Given the description of an element on the screen output the (x, y) to click on. 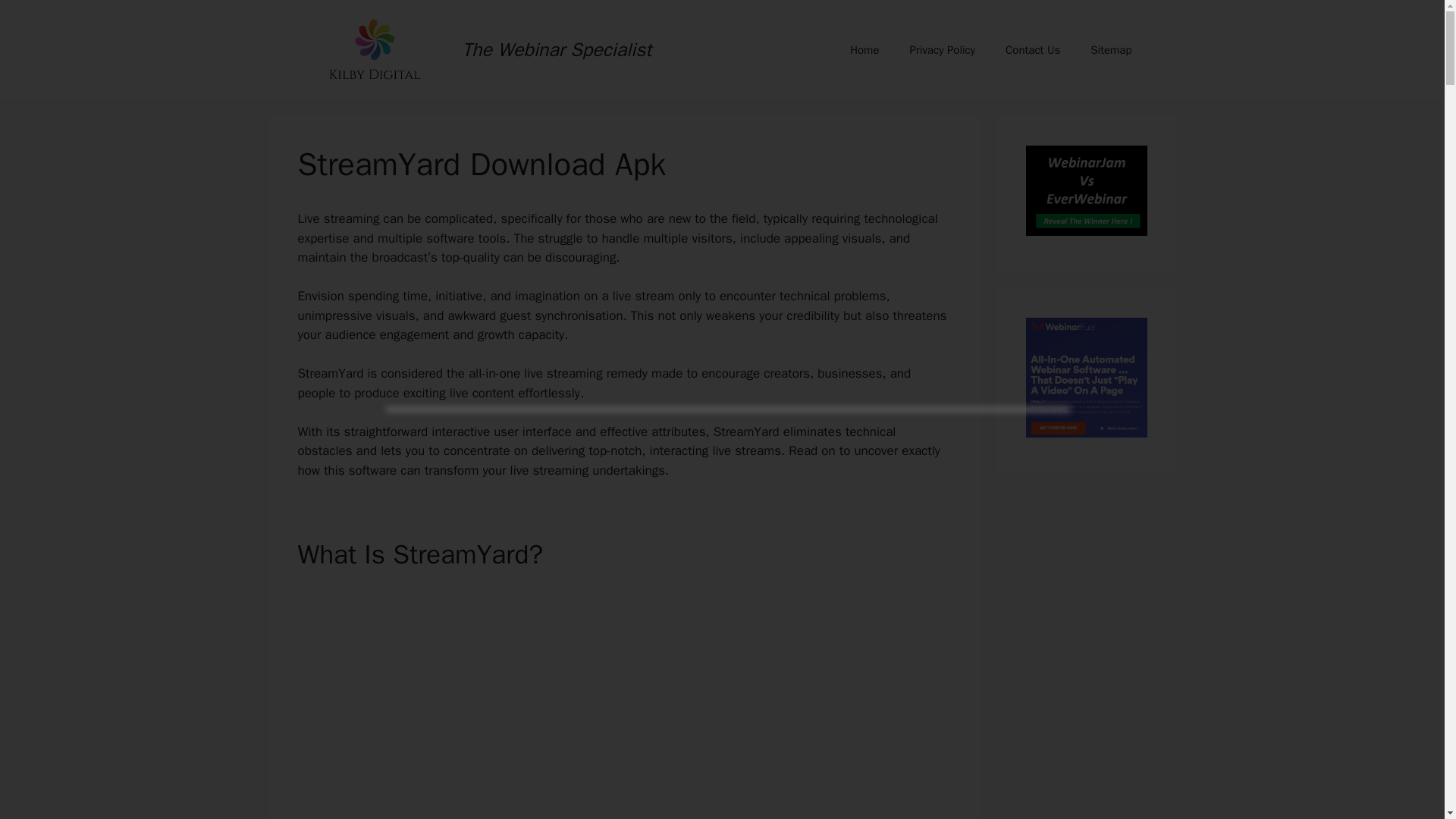
Contact Us (1032, 49)
Privacy Policy (941, 49)
Sitemap (1111, 49)
Home (863, 49)
The Webinar Specialist (557, 49)
